Given the description of an element on the screen output the (x, y) to click on. 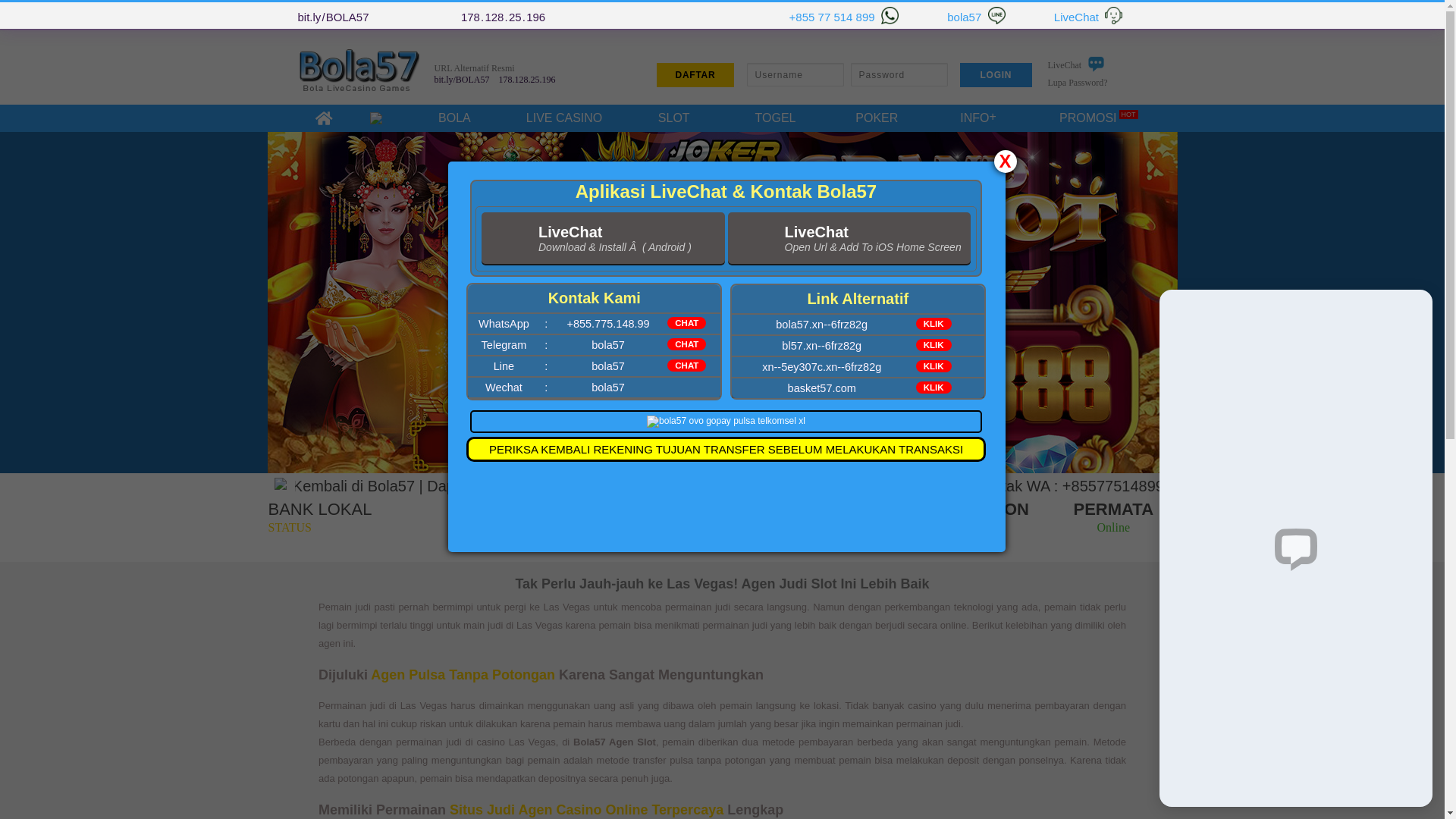
BOLA Element type: text (454, 117)
POKER Element type: text (876, 117)
Agen Pulsa Tanpa Potongan Element type: text (462, 674)
LiveChat Element type: text (1076, 68)
xn--5ey307c.xn--6frz82g Element type: text (821, 366)
Lupa Password? Element type: text (1077, 82)
bola57.xn--6frz82g Element type: text (821, 324)
DAFTAR Element type: text (695, 74)
basket57.com Element type: text (821, 388)
INFO
+ Element type: text (978, 117)
PROMOSI Element type: text (1088, 117)
bit.ly / BOLA57 Element type: text (332, 16)
X Element type: text (1004, 160)
SLOT Element type: text (673, 117)
TOGEL Element type: text (775, 117)
LOGIN Element type: text (996, 74)
178 . 128 . 25 . 196 Element type: text (503, 16)
bit.ly / BOLA57 Element type: text (461, 79)
Situs Judi Agen Casino Online Terpercaya Element type: text (586, 809)
bl57.xn--6frz82g Element type: text (821, 345)
LIVE CASINO Element type: text (564, 117)
178 . 128 . 25 . 196 Element type: text (526, 79)
LiveChat
Open Url & Add To iOS Home Screen Element type: text (849, 238)
